Given the description of an element on the screen output the (x, y) to click on. 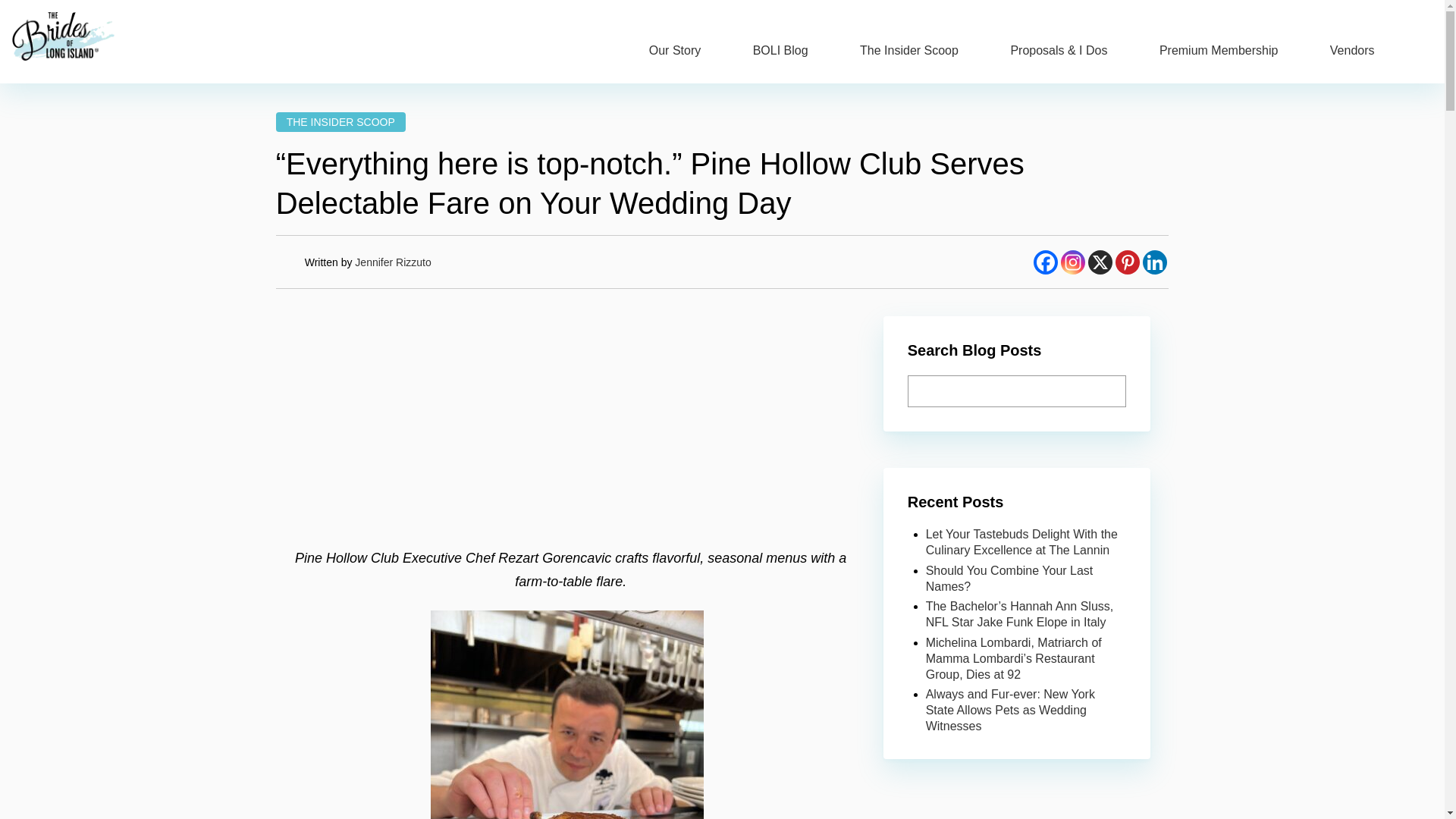
X (1099, 262)
THE INSIDER SCOOP (1218, 50)
Pinterest (341, 121)
Instagram (908, 50)
Jennifer Rizzuto (1127, 262)
Linkedin (1072, 262)
Vendors (392, 262)
Facebook (1154, 262)
